Given the description of an element on the screen output the (x, y) to click on. 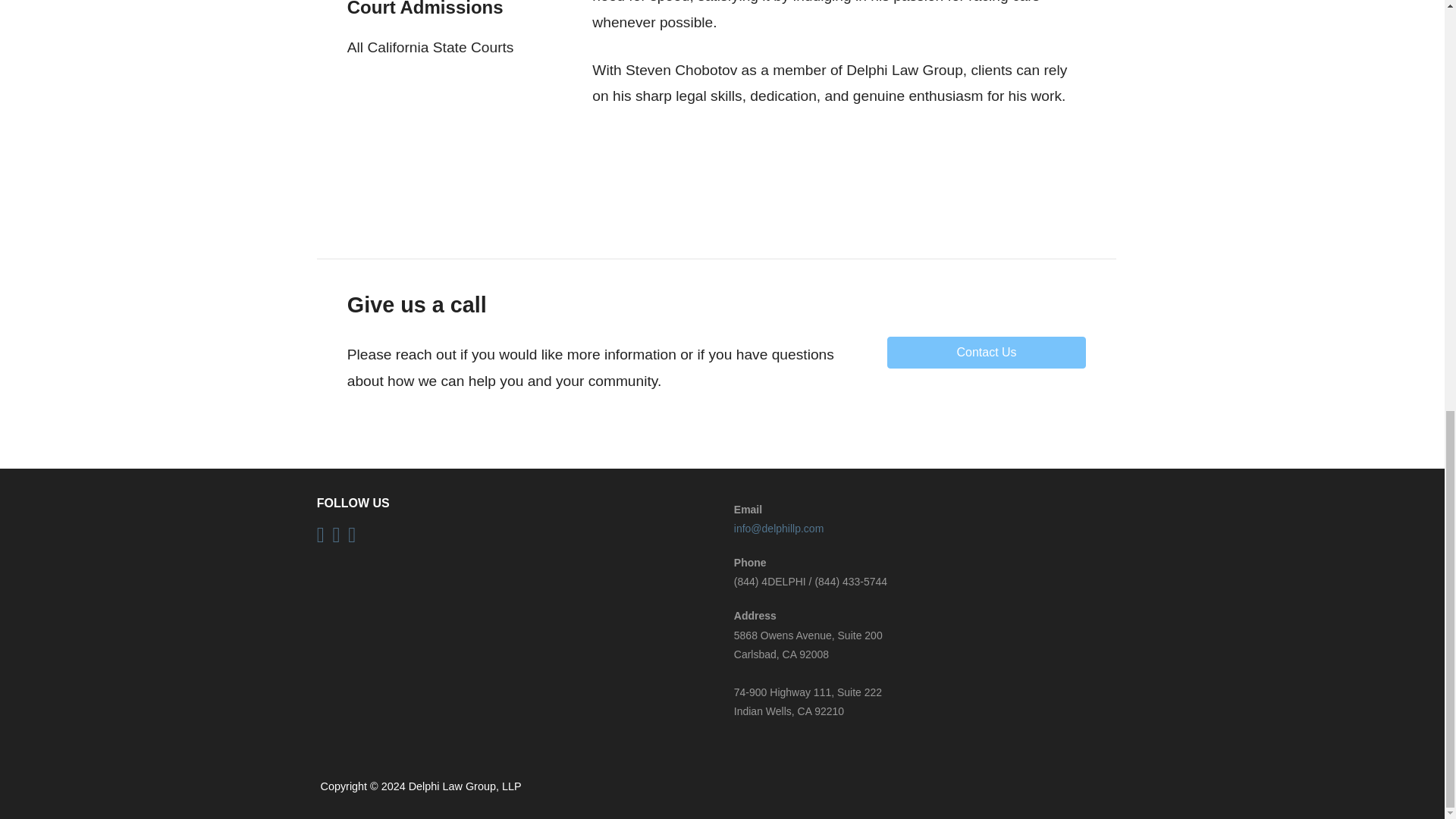
Contact Us (986, 352)
